Given the description of an element on the screen output the (x, y) to click on. 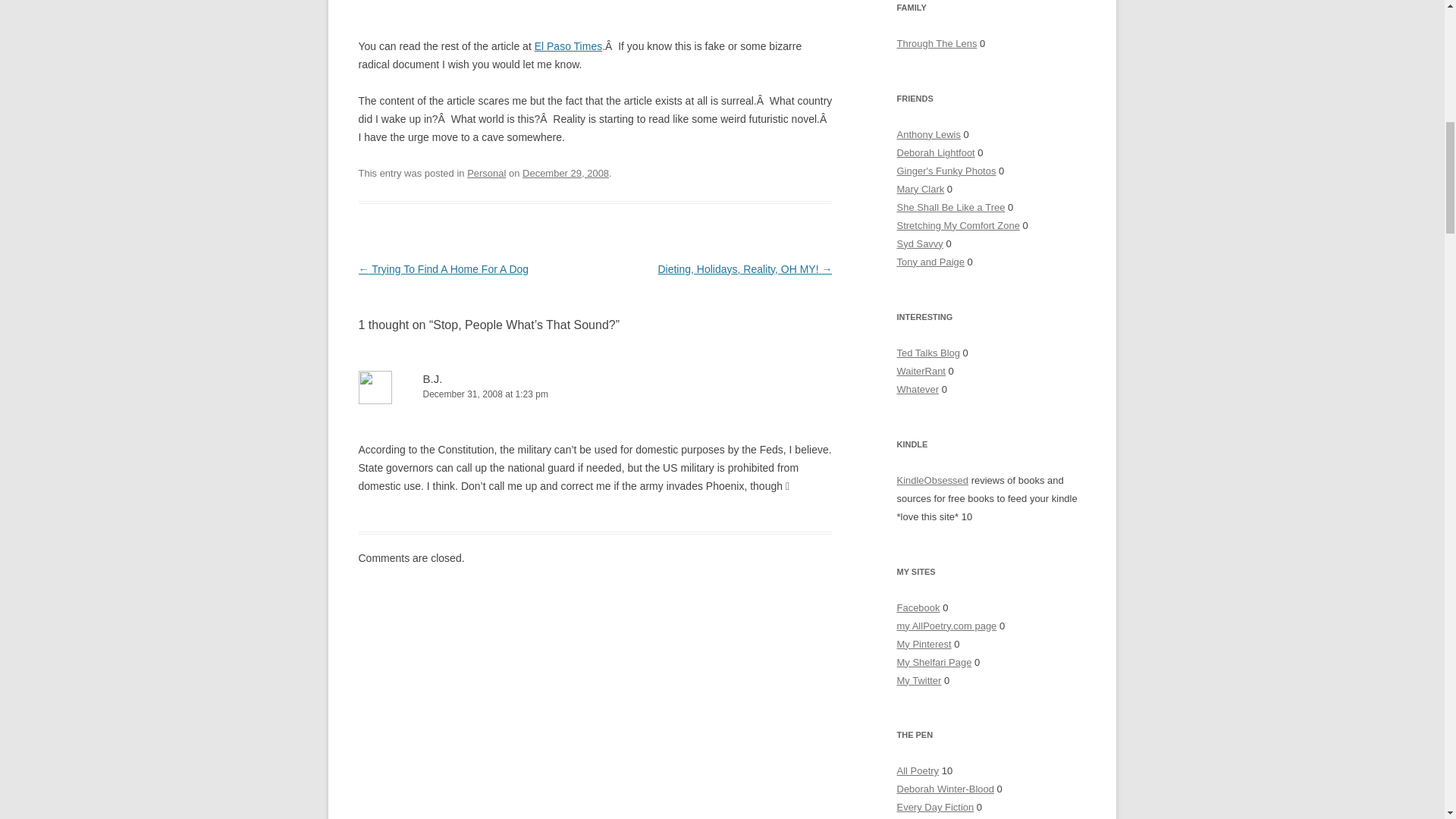
Anthony Lewis (927, 134)
Deborah Lightfoot (935, 152)
Personal (486, 173)
Ginger's Funky Photos (945, 170)
El Paso Times (568, 46)
9:26 pm (565, 173)
December 31, 2008 at 1:23 pm (594, 394)
December 29, 2008 (565, 173)
Through The Lens (936, 43)
Mary Clark (919, 188)
